Given the description of an element on the screen output the (x, y) to click on. 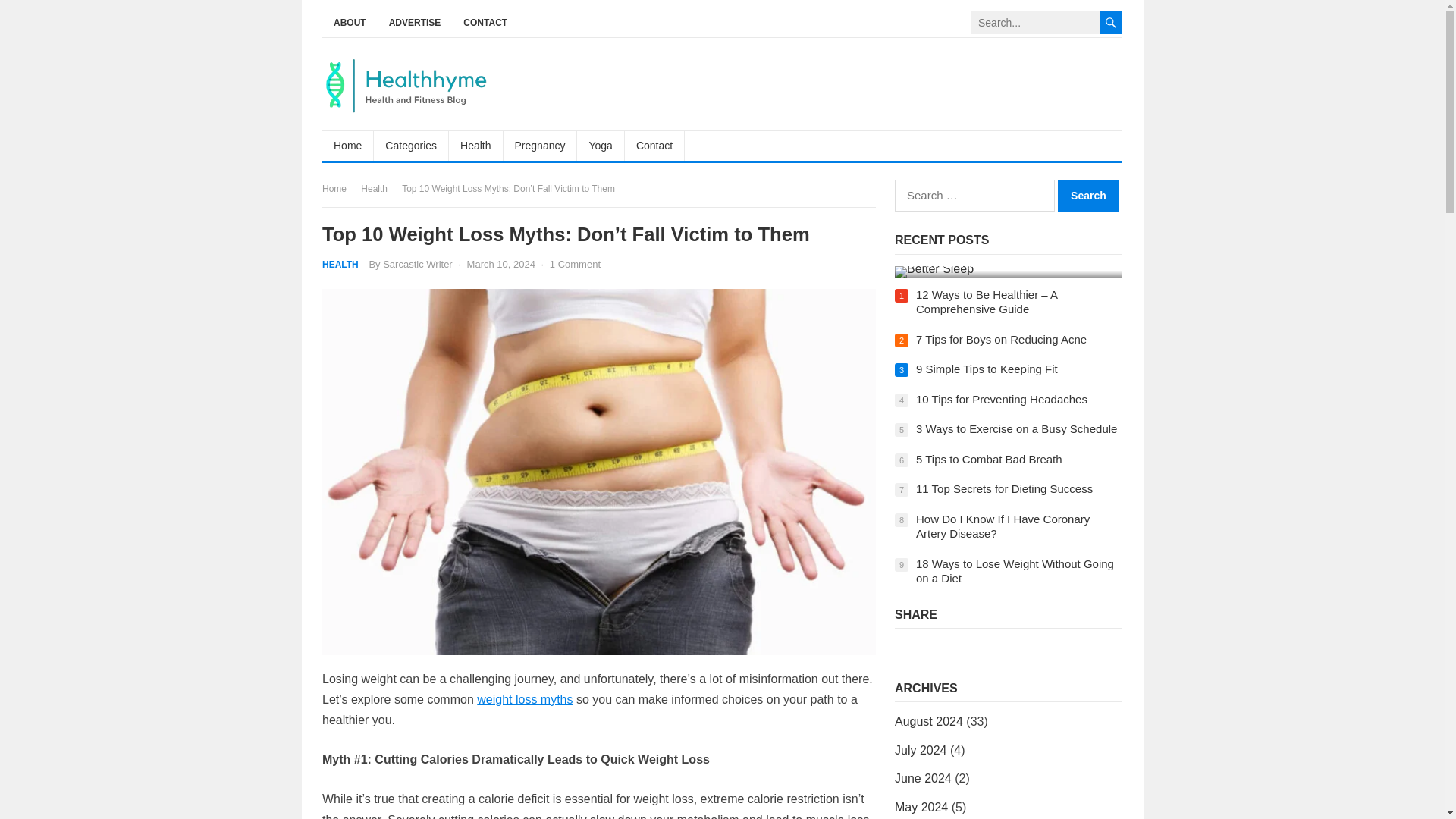
Yoga (600, 145)
Pregnancy (540, 145)
Search (1088, 195)
Health (379, 188)
Categories (411, 145)
ABOUT (349, 22)
Home (338, 188)
Search (1088, 195)
Posts by Sarcastic Writer (417, 264)
HEALTH (339, 264)
